Given the description of an element on the screen output the (x, y) to click on. 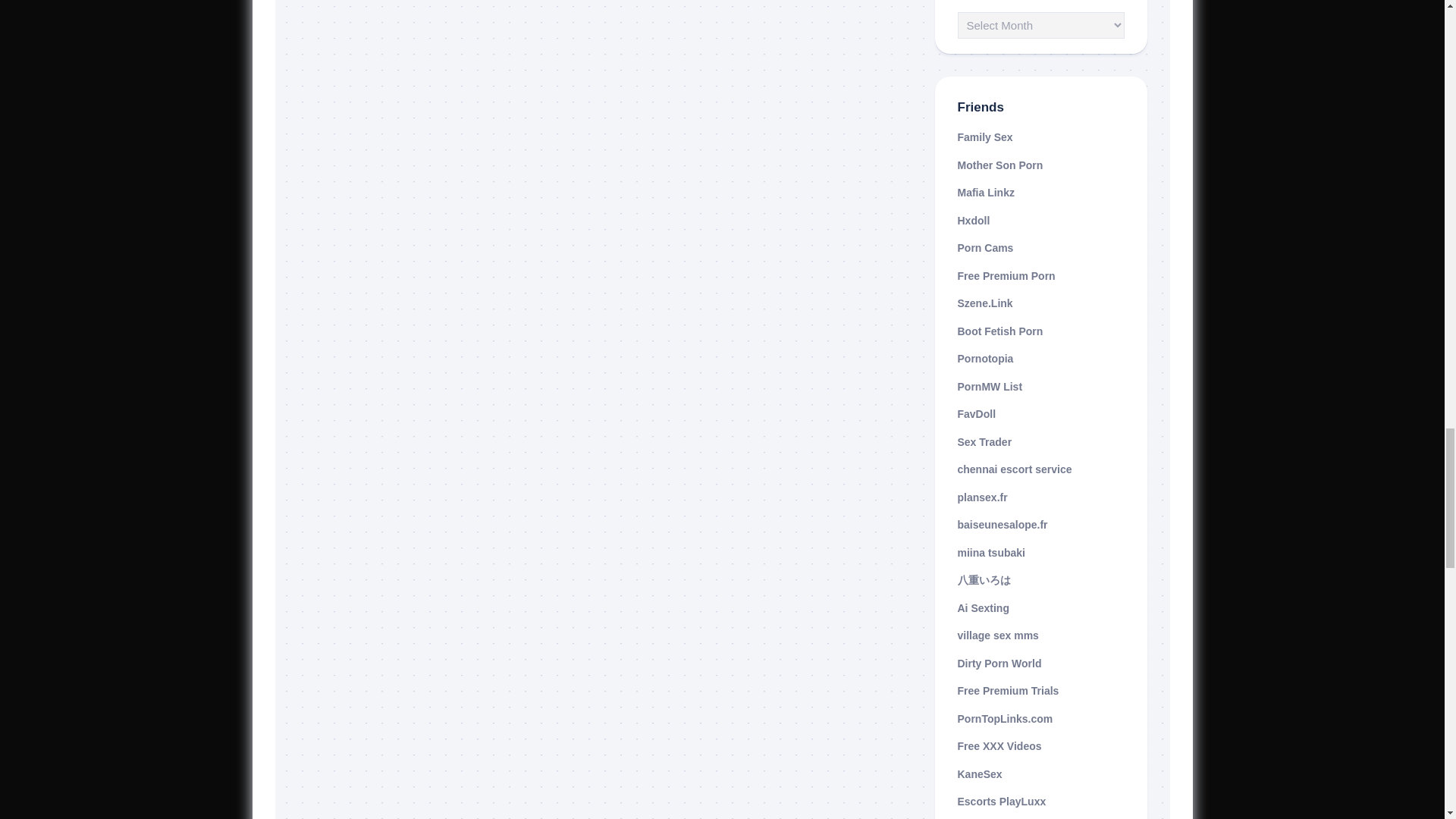
Best Porn Sites List - Dirty Porn World (998, 663)
